Given the description of an element on the screen output the (x, y) to click on. 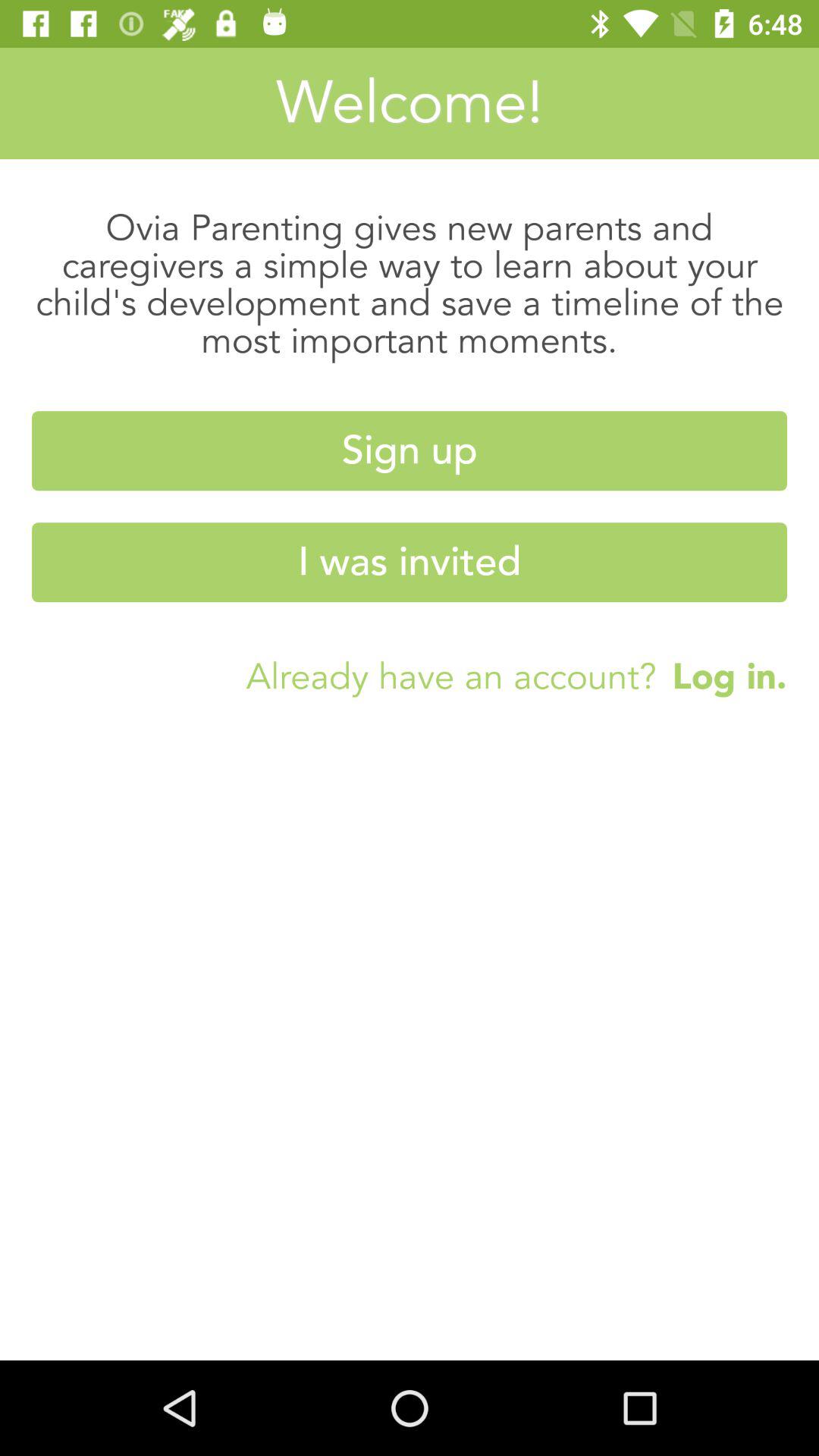
press the item next to already have an item (721, 675)
